Given the description of an element on the screen output the (x, y) to click on. 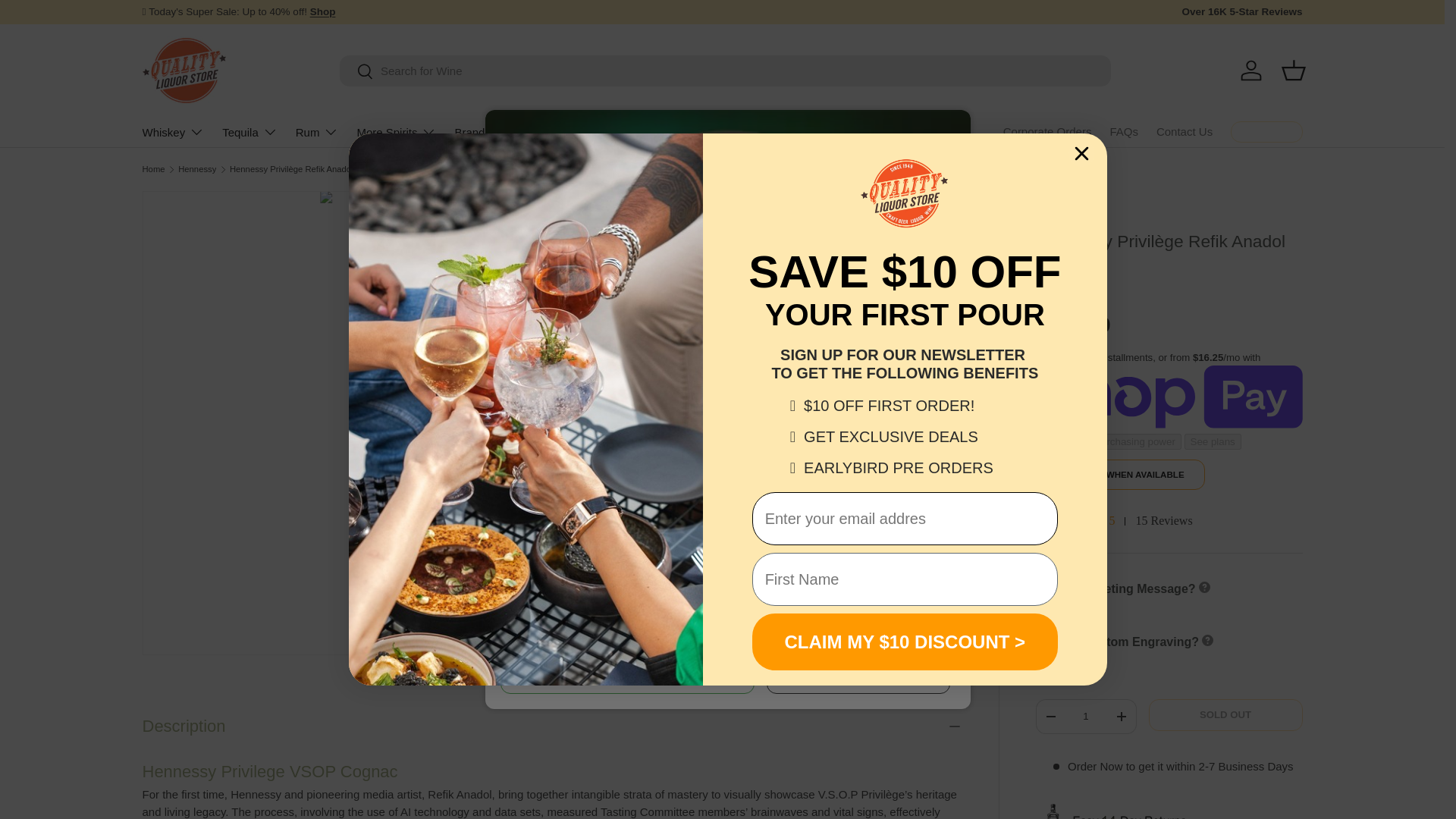
SALE (1113, 521)
Basket (323, 11)
More Spirits (1293, 70)
Rum (395, 132)
1 (317, 132)
Search (1085, 716)
Over 16K 5-Star Reviews (356, 72)
Whiskey (1240, 11)
SKIP TO CONTENT (173, 132)
Quality Liquor Store (68, 21)
Shop (1251, 70)
Tequila (323, 11)
